Given the description of an element on the screen output the (x, y) to click on. 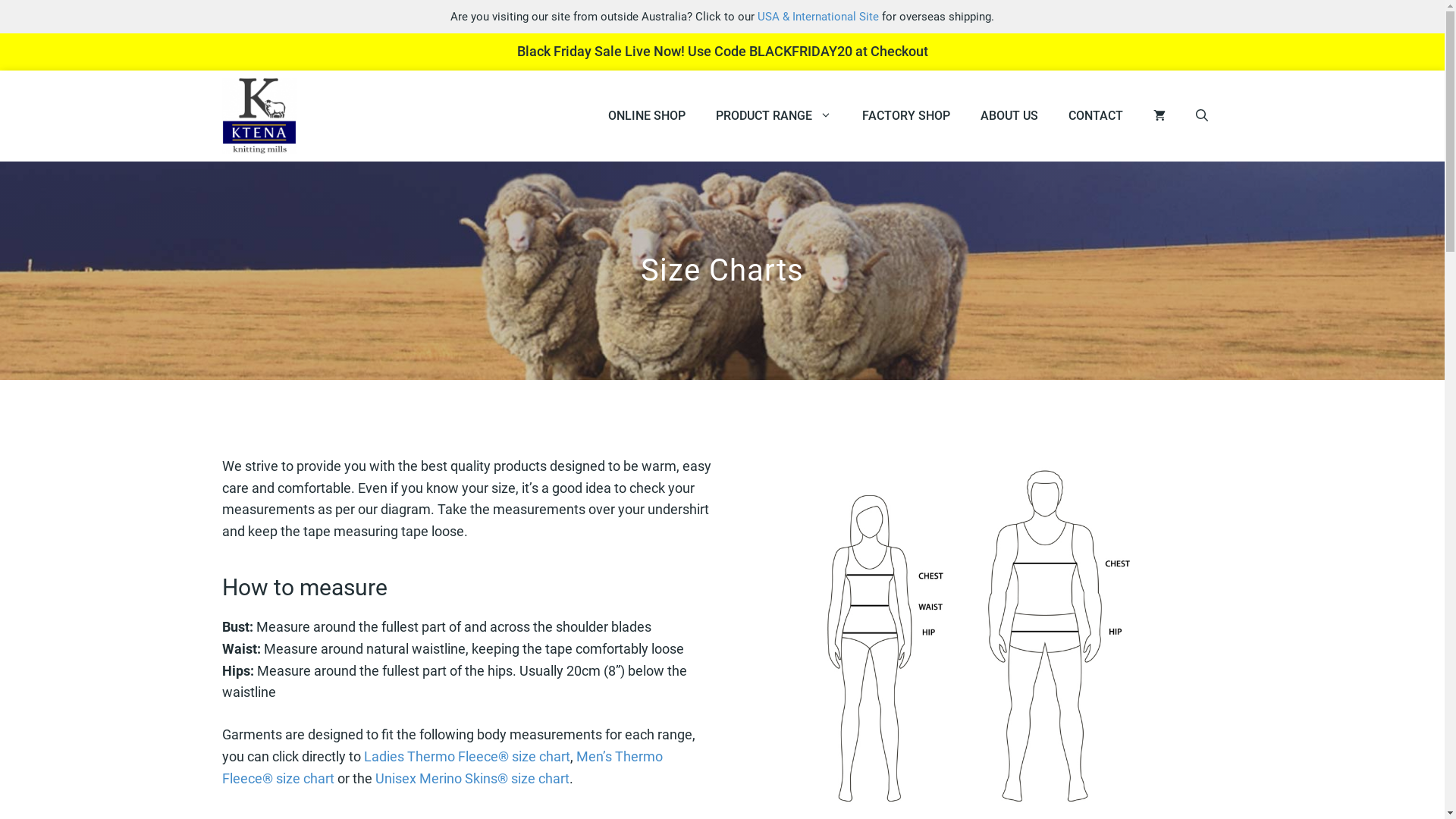
CONTACT Element type: text (1094, 115)
ONLINE SHOP Element type: text (646, 115)
ABOUT US Element type: text (1008, 115)
USA & International Site Element type: text (817, 16)
FACTORY SHOP Element type: text (905, 115)
Ktena Knitting Mills Element type: hover (258, 115)
View your shopping cart Element type: hover (1158, 115)
PRODUCT RANGE Element type: text (773, 115)
